Given the description of an element on the screen output the (x, y) to click on. 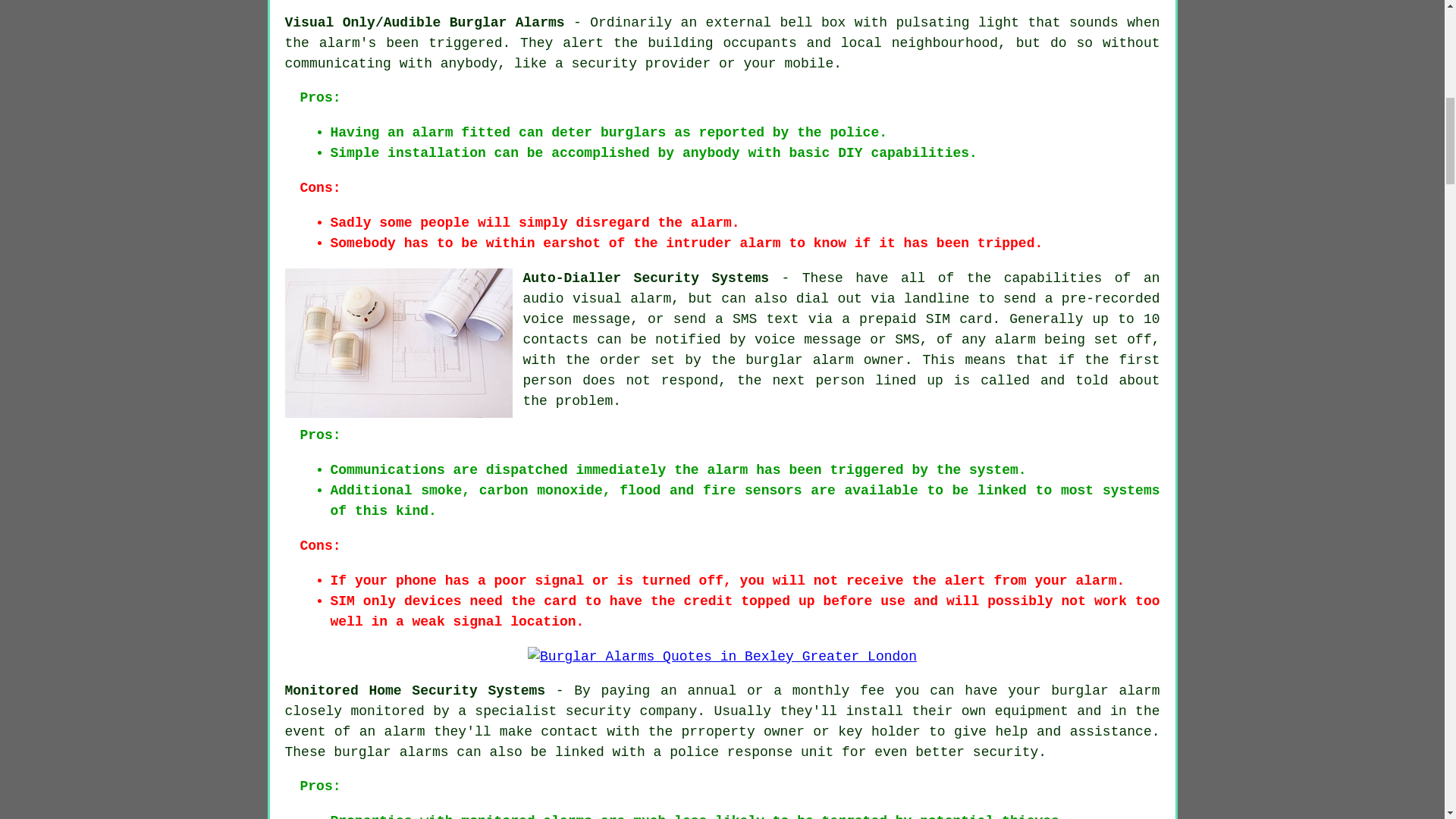
burglar alarms (390, 752)
Burglar Alarms Quotes in Bexley Greater London (722, 657)
Burglar Alarm Installation Bexley UK (398, 342)
